Given the description of an element on the screen output the (x, y) to click on. 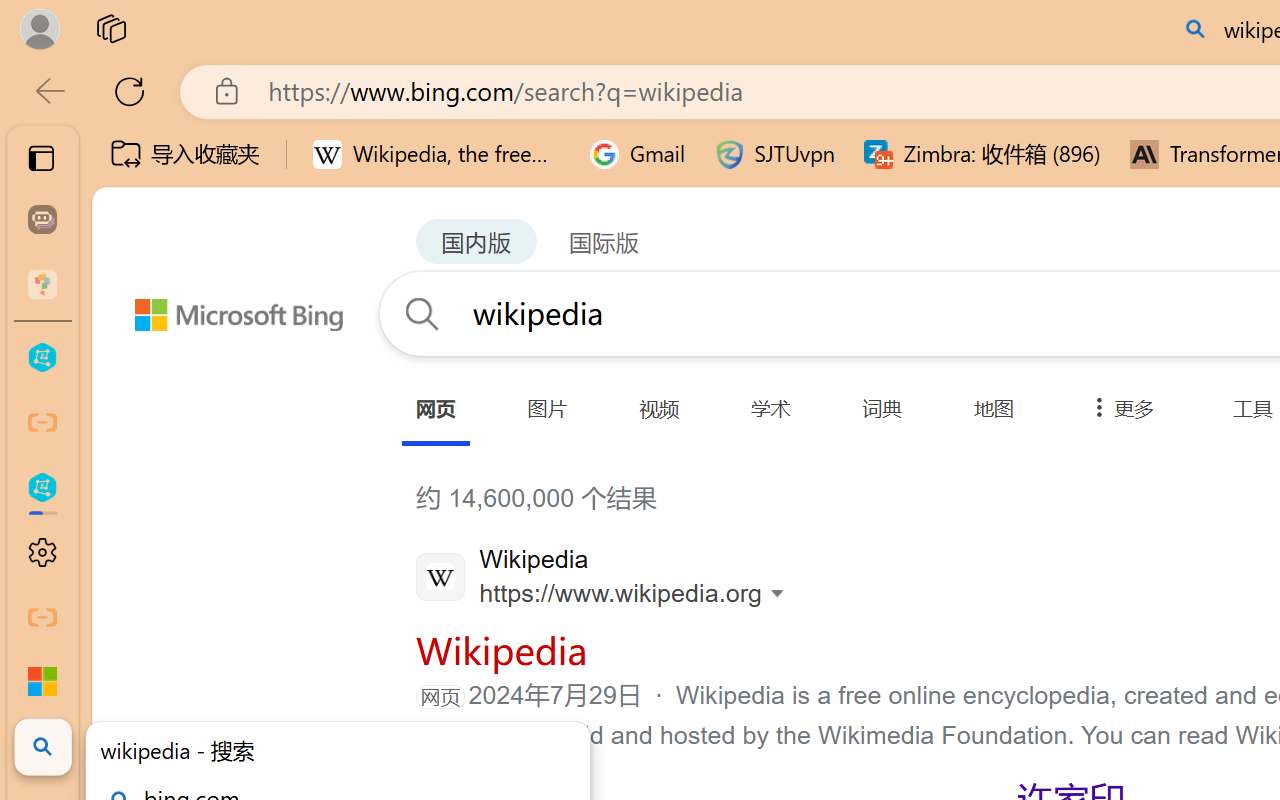
Microsoft security help and learning (42, 681)
